Given the description of an element on the screen output the (x, y) to click on. 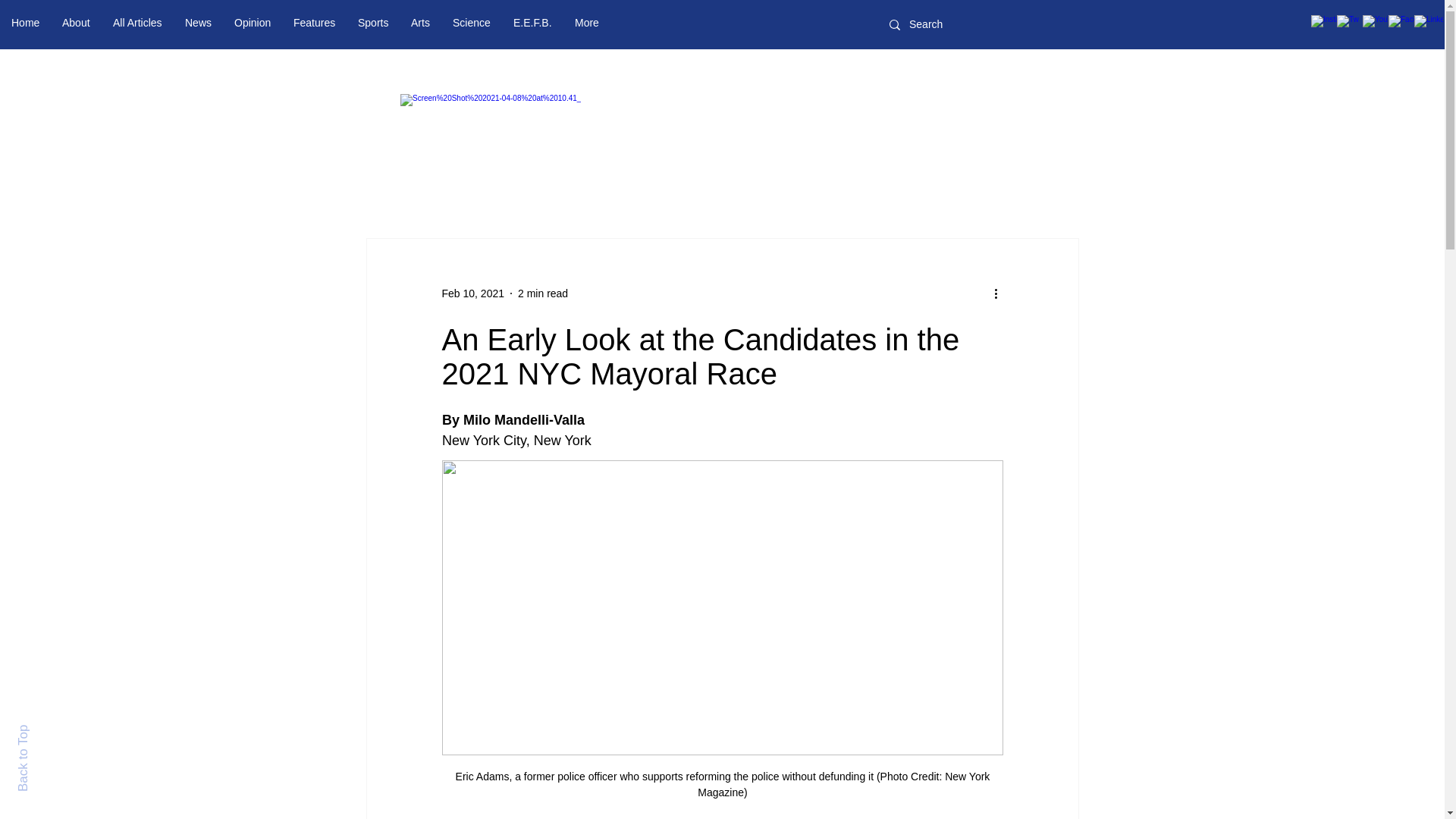
2 min read (542, 292)
Home (25, 23)
About (75, 23)
More (586, 23)
Feb 10, 2021 (472, 292)
Opinion (252, 23)
Back to Top (49, 730)
Science (471, 23)
Sports (372, 23)
E.E.F.B. (532, 23)
Arts (419, 23)
News (197, 23)
All Articles (137, 23)
Features (314, 23)
